Given the description of an element on the screen output the (x, y) to click on. 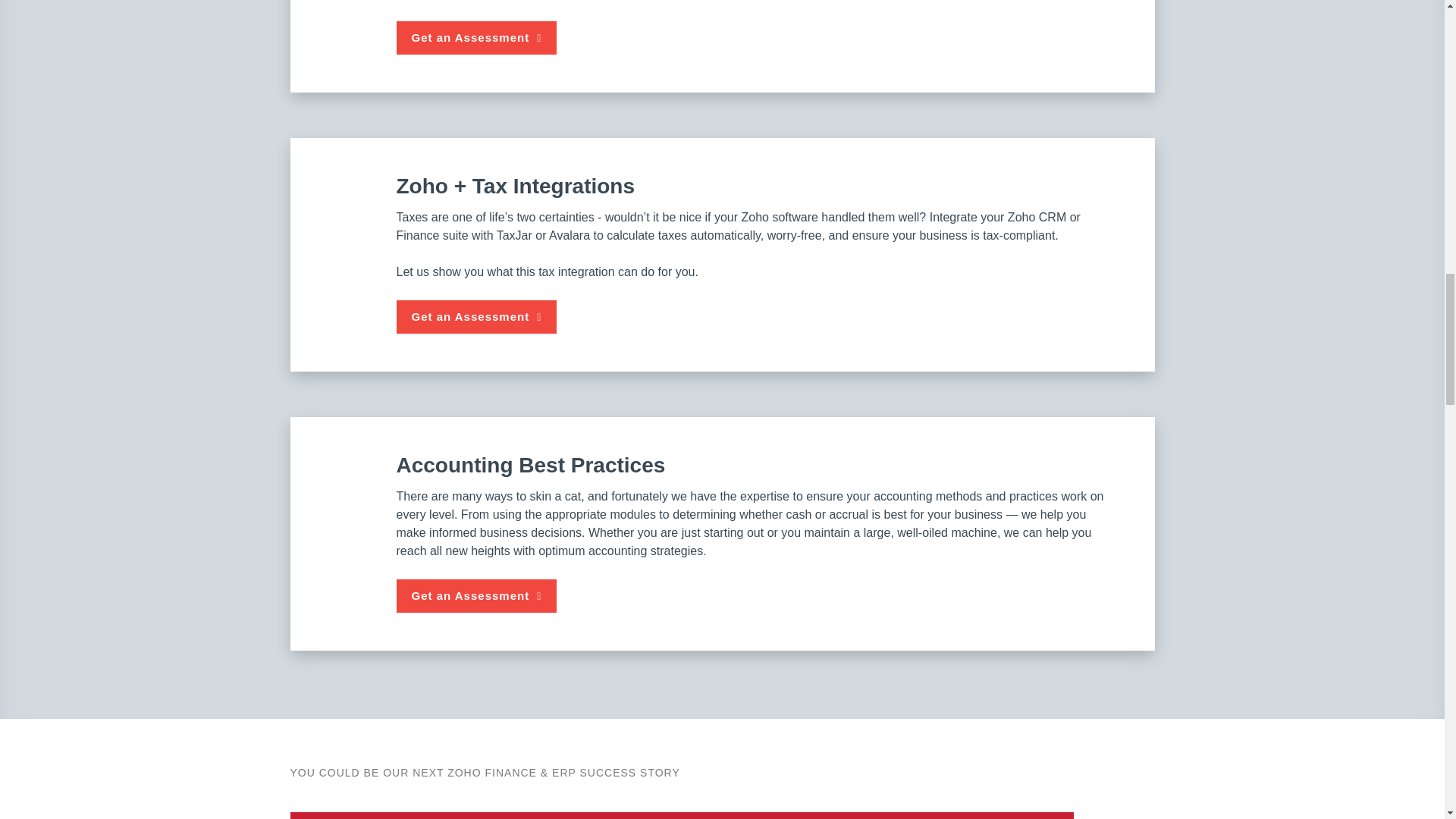
Accounting Best Practices (350, 484)
